Given the description of an element on the screen output the (x, y) to click on. 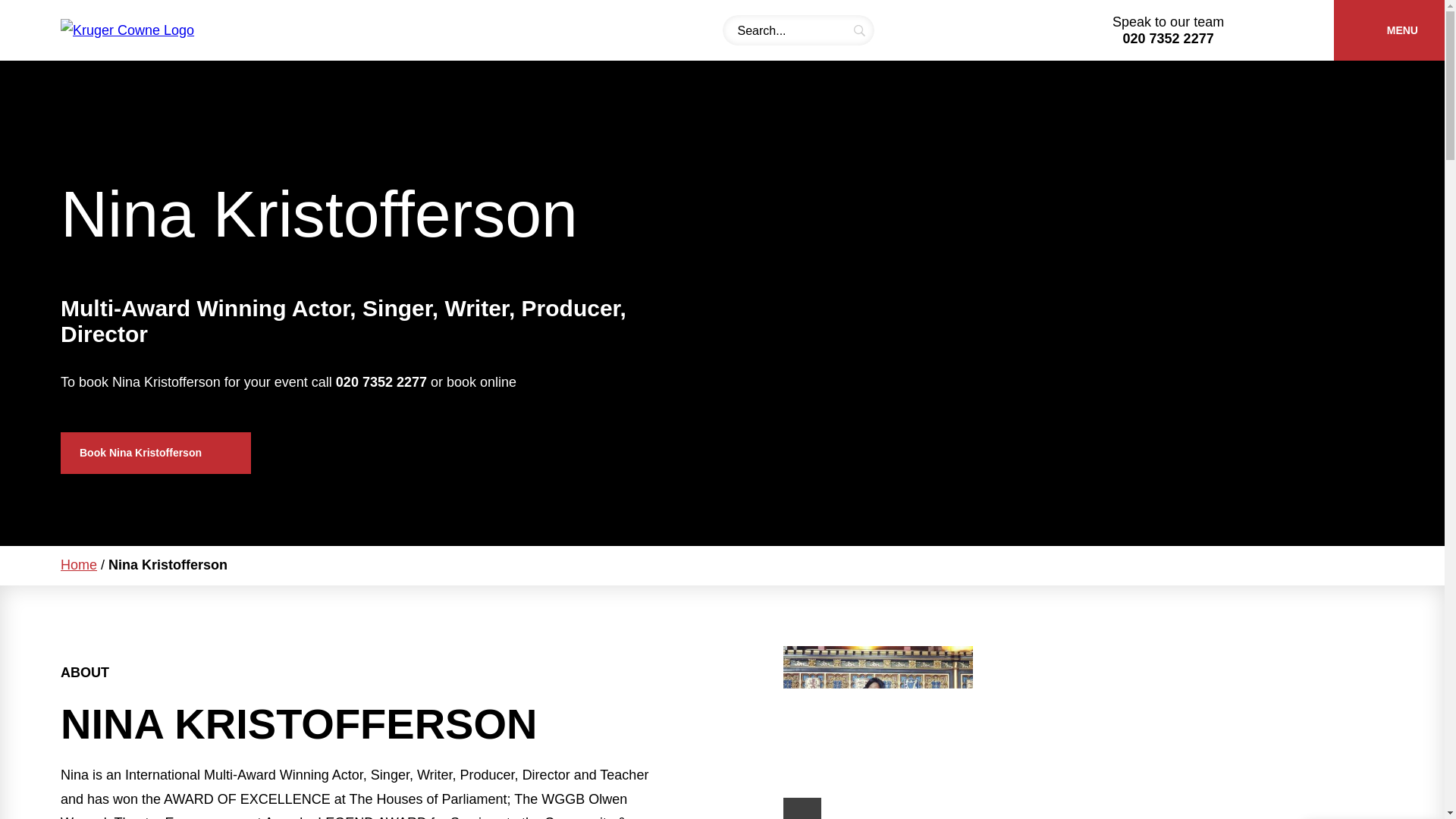
020 7352 2277 (1168, 38)
Home (79, 564)
Book Nina Kristofferson (155, 453)
020 7352 2277 (381, 381)
Search... (797, 30)
